Given the description of an element on the screen output the (x, y) to click on. 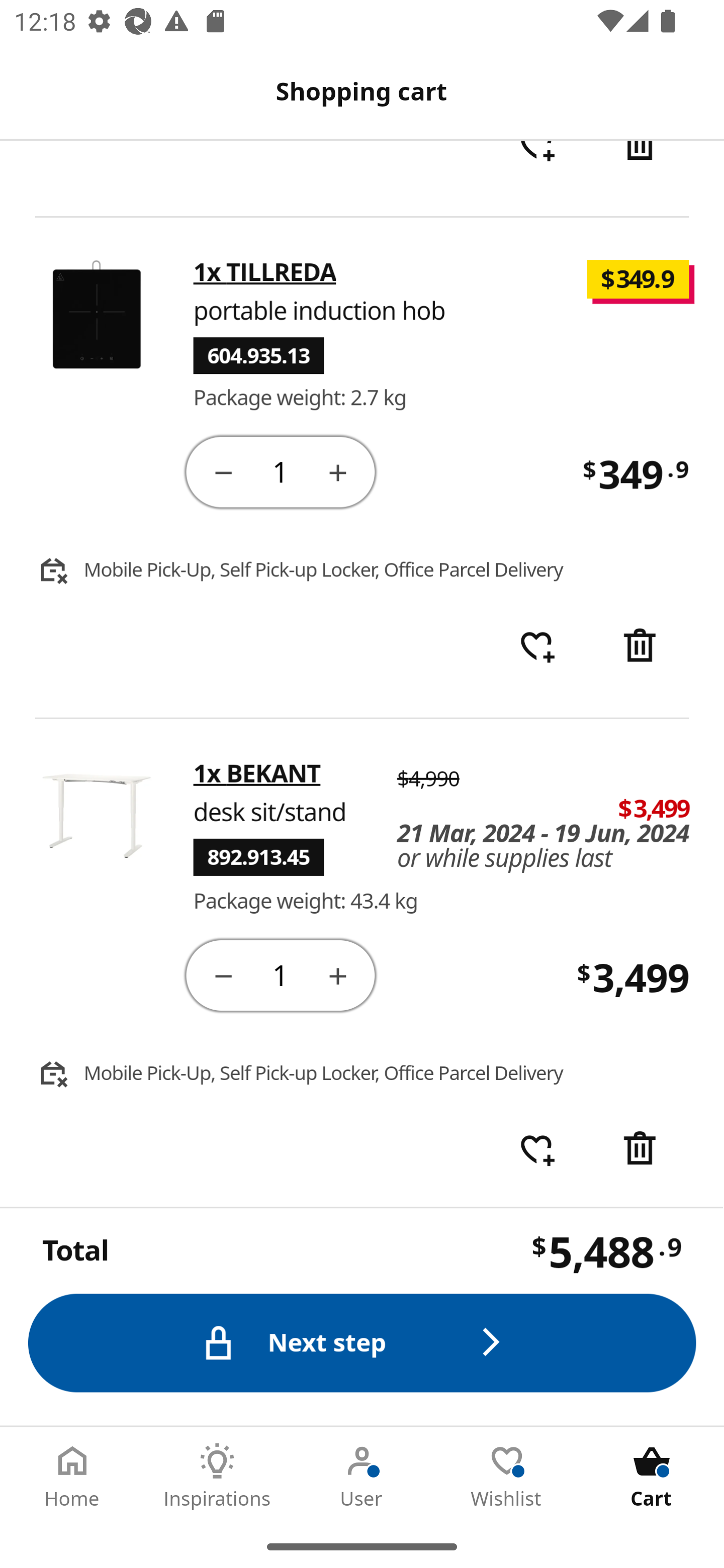
  (536, 169)
 (641, 169)
1x  TILLREDA 1x  TILLREDA (265, 273)
1 (281, 472)
 (223, 473)
 (338, 473)
  (536, 647)
 (641, 647)
1x  BEKANT 1x  BEKANT (257, 774)
1 (281, 975)
 (223, 976)
 (338, 976)
  (536, 1150)
 (641, 1150)
Home
Tab 1 of 5 (72, 1476)
Inspirations
Tab 2 of 5 (216, 1476)
User
Tab 3 of 5 (361, 1476)
Wishlist
Tab 4 of 5 (506, 1476)
Cart
Tab 5 of 5 (651, 1476)
